Given the description of an element on the screen output the (x, y) to click on. 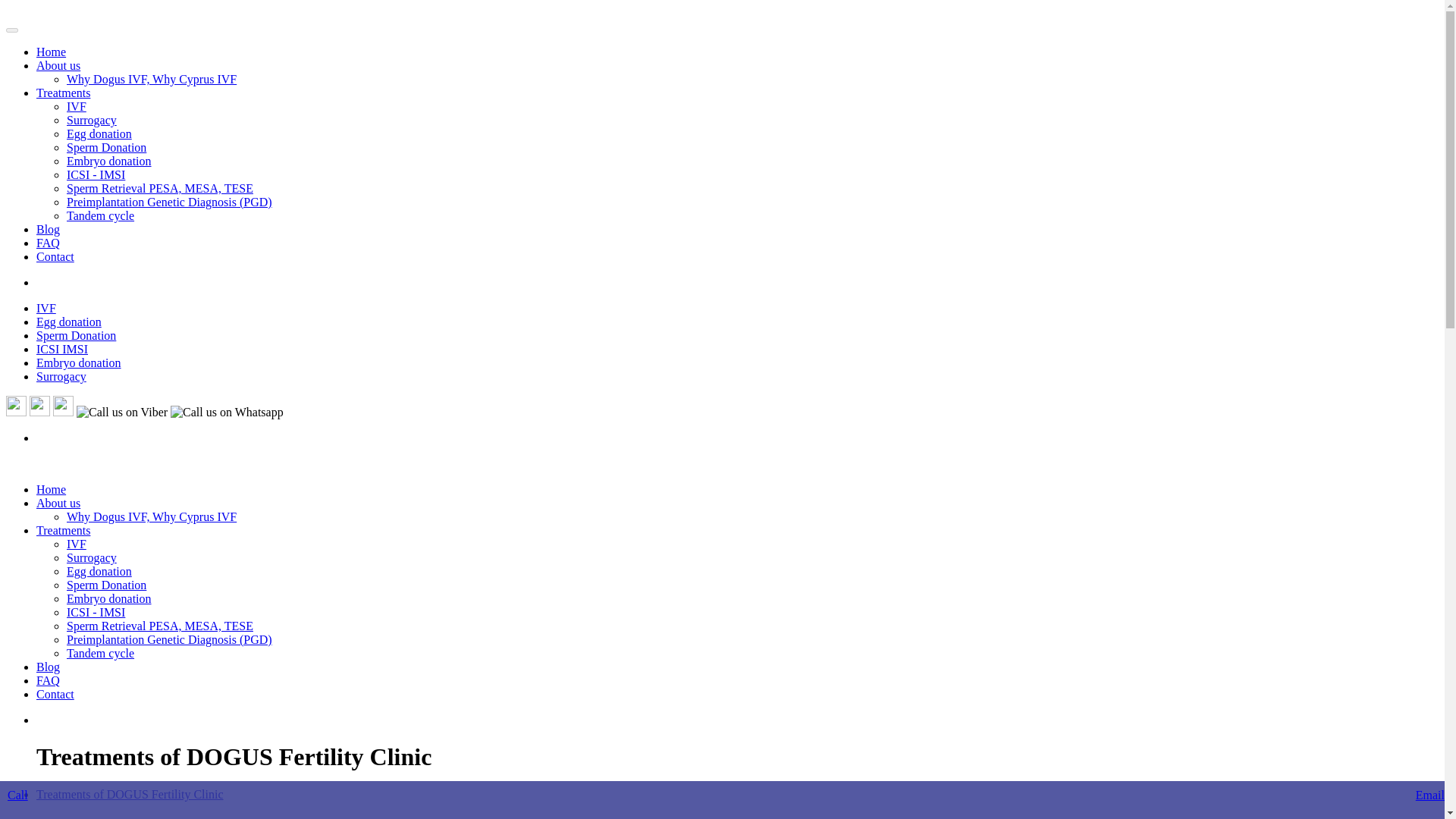
Surrogacy (91, 119)
About us (58, 65)
Visit our Spanish website (15, 411)
ICSI - IMSI (95, 174)
Egg donation (99, 133)
About us (58, 502)
Sperm Donation (76, 335)
Blog (47, 228)
Egg donation (99, 571)
Embryo donation (108, 598)
Treatments (63, 92)
Visit our French website (63, 411)
Sperm Donation (106, 146)
ICSI IMSI (61, 349)
Treatments (63, 530)
